Given the description of an element on the screen output the (x, y) to click on. 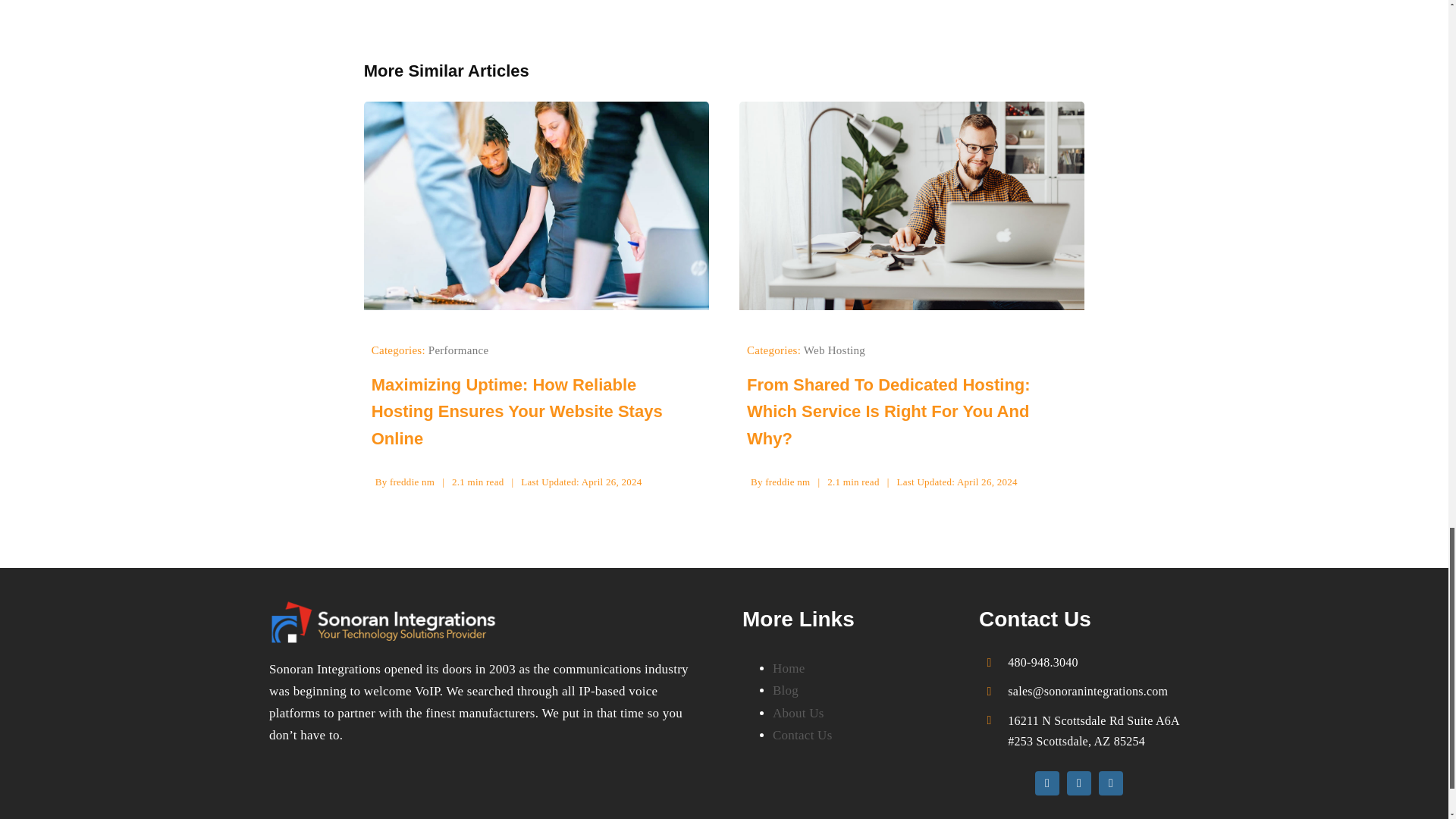
Twitter (1078, 783)
Posts by freddie nm (787, 481)
Posts by freddie nm (411, 481)
Facebook (1047, 783)
LinkedIn (1110, 783)
